Given the description of an element on the screen output the (x, y) to click on. 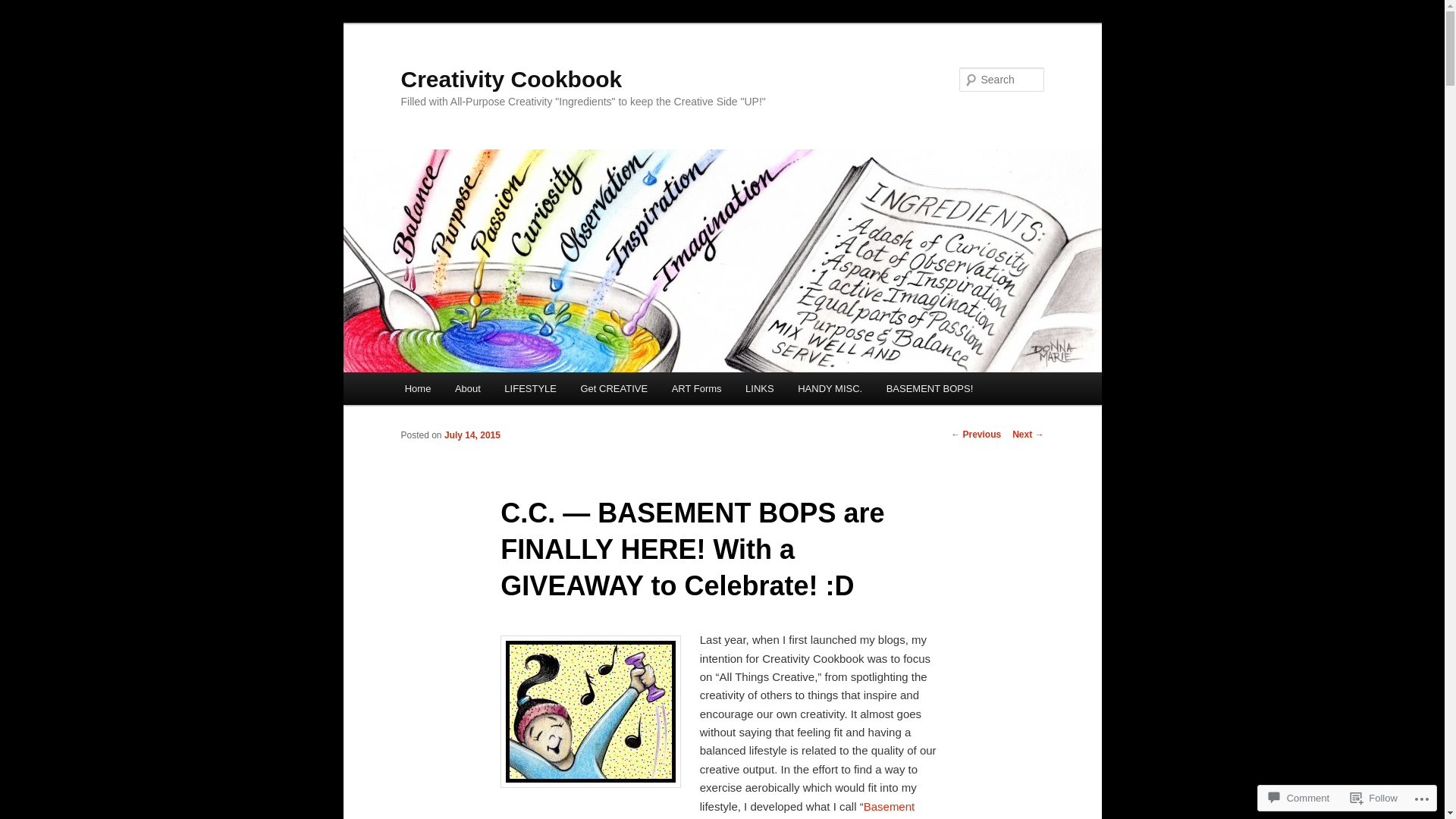
Get CREATIVE Element type: text (613, 388)
Comment Element type: text (1298, 797)
LINKS Element type: text (759, 388)
Follow Element type: text (1373, 797)
Skip to primary content Element type: text (22, 22)
Search Element type: text (24, 8)
ART Forms Element type: text (696, 388)
July 14, 2015 Element type: text (472, 434)
BASEMENT BOPS! Element type: text (929, 388)
HANDY MISC. Element type: text (829, 388)
About Element type: text (467, 388)
LIFESTYLE Element type: text (530, 388)
Creativity Cookbook Element type: text (510, 78)
Home Element type: text (417, 388)
